Given the description of an element on the screen output the (x, y) to click on. 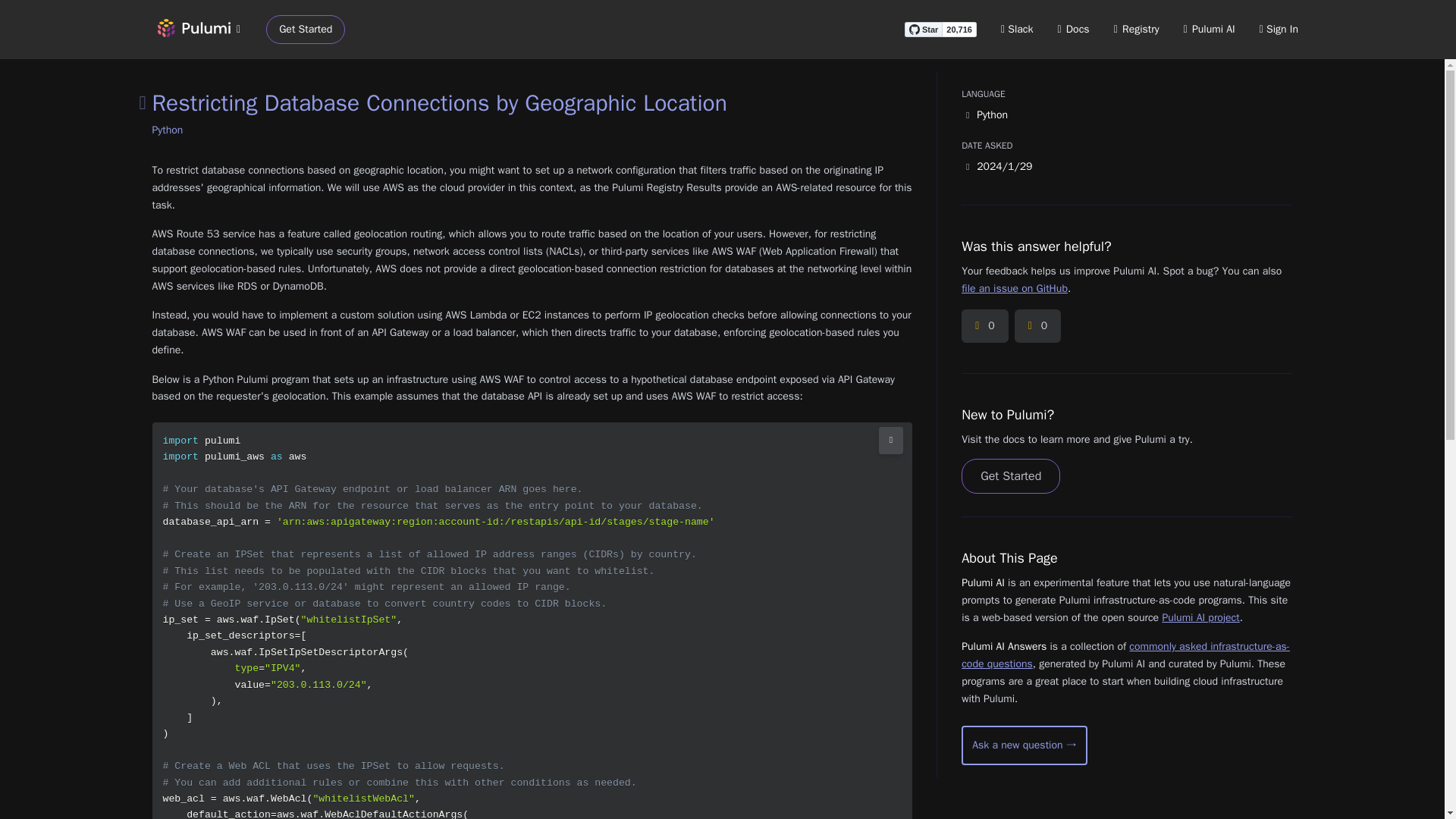
 Star (923, 29)
Get Started (1009, 475)
Registry (1135, 29)
Pulumi AI (1208, 29)
Start a new conversation with Pulumi AI (1023, 744)
Docs (1073, 29)
file an issue on GitHub (1013, 287)
Downvote this answer (1037, 326)
Upvote this answer (984, 326)
0 (984, 326)
